Given the description of an element on the screen output the (x, y) to click on. 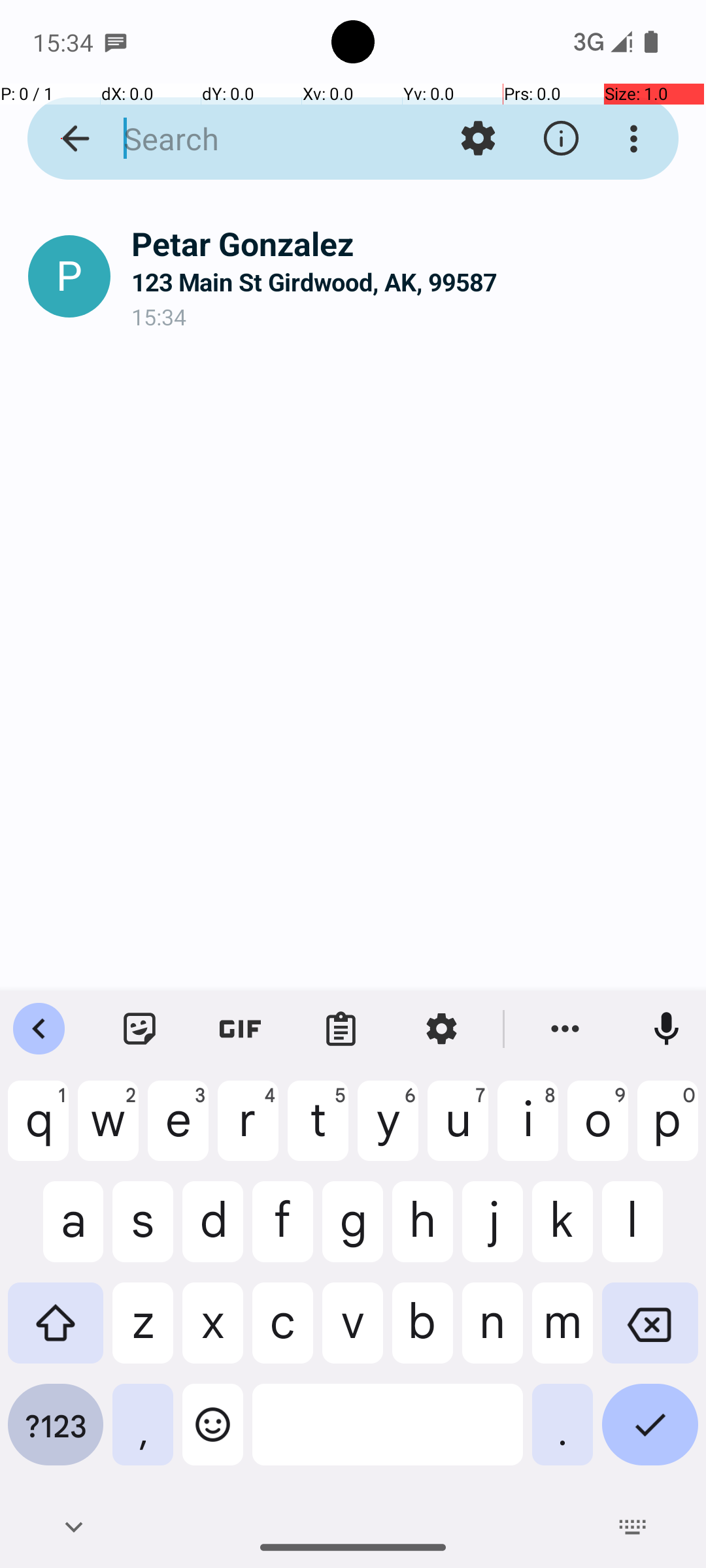
Petar Gonzalez Element type: android.widget.TextView (408, 242)
123 Main St Girdwood, AK, 99587 Element type: android.widget.TextView (408, 281)
